Given the description of an element on the screen output the (x, y) to click on. 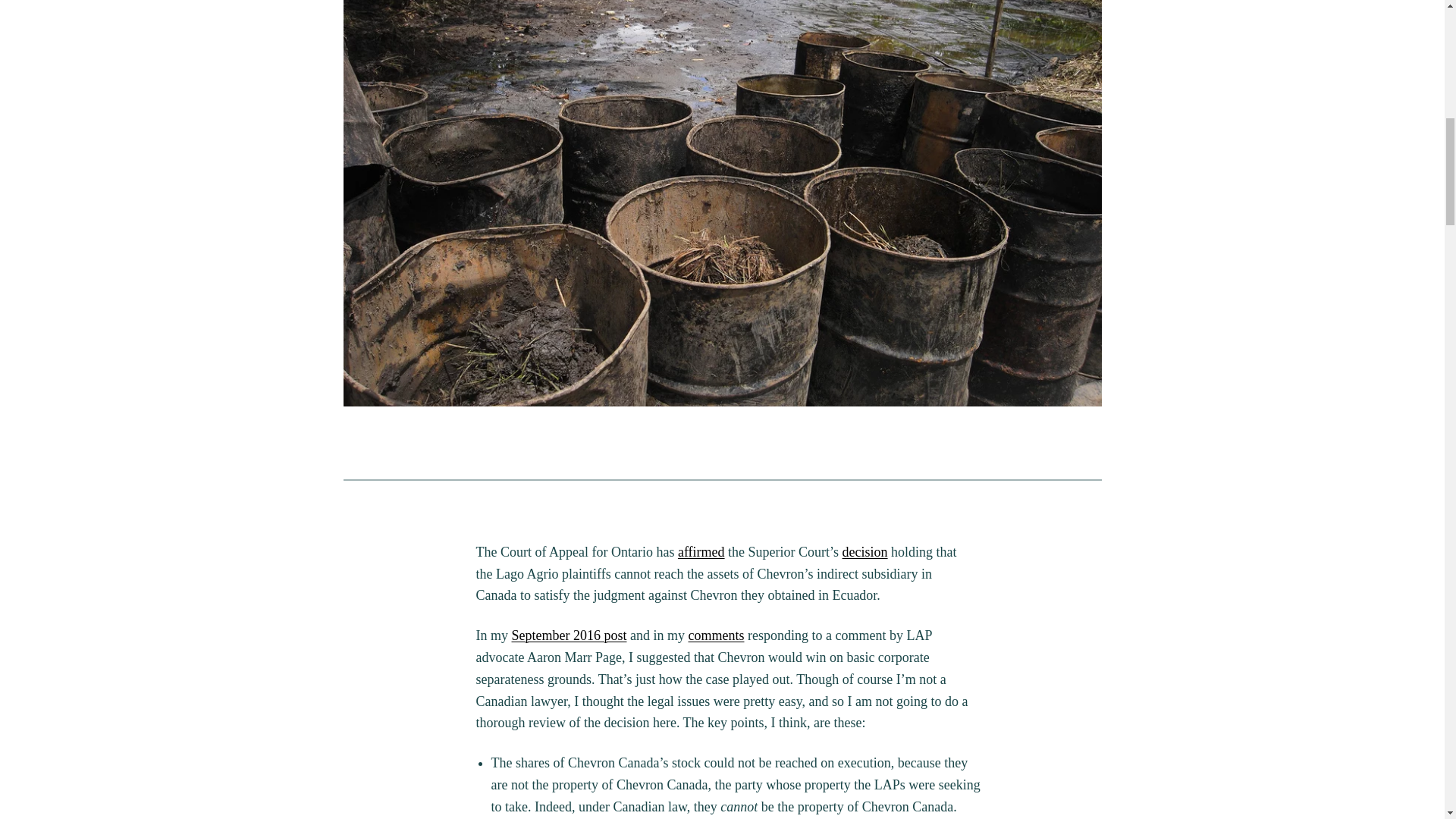
September 2016 post (568, 635)
affirmed (701, 551)
comments (715, 635)
decision (865, 551)
